Given the description of an element on the screen output the (x, y) to click on. 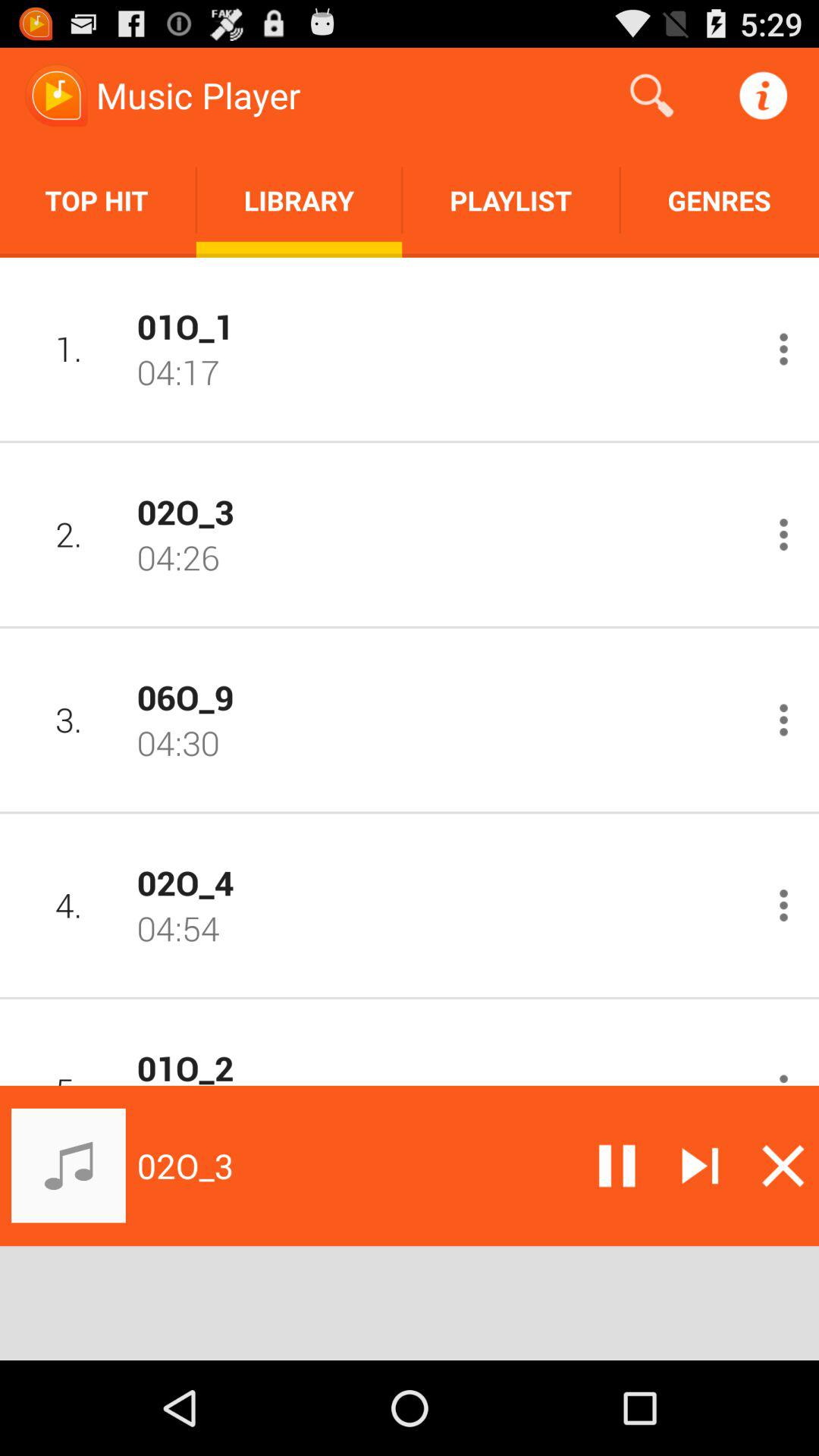
turn off library (299, 200)
